Given the description of an element on the screen output the (x, y) to click on. 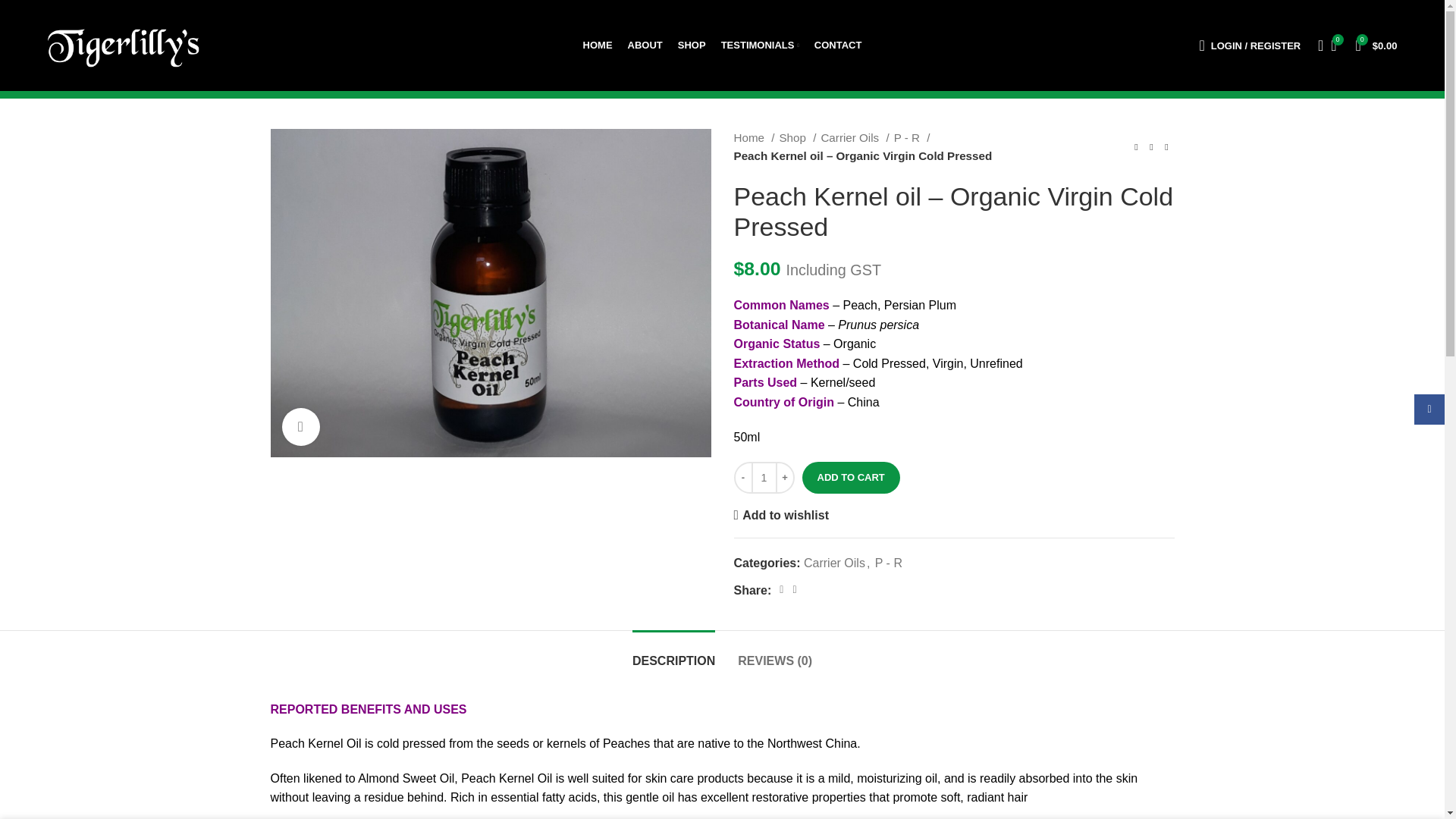
My account (1249, 45)
Shopping cart (1376, 45)
Home (753, 137)
Shop (796, 137)
Carrier Oils (854, 137)
ABOUT (644, 45)
Log in (1174, 294)
CONTACT (837, 45)
SHOP (692, 45)
TESTIMONIALS (759, 45)
P - R (911, 137)
HOME (597, 45)
